Given the description of an element on the screen output the (x, y) to click on. 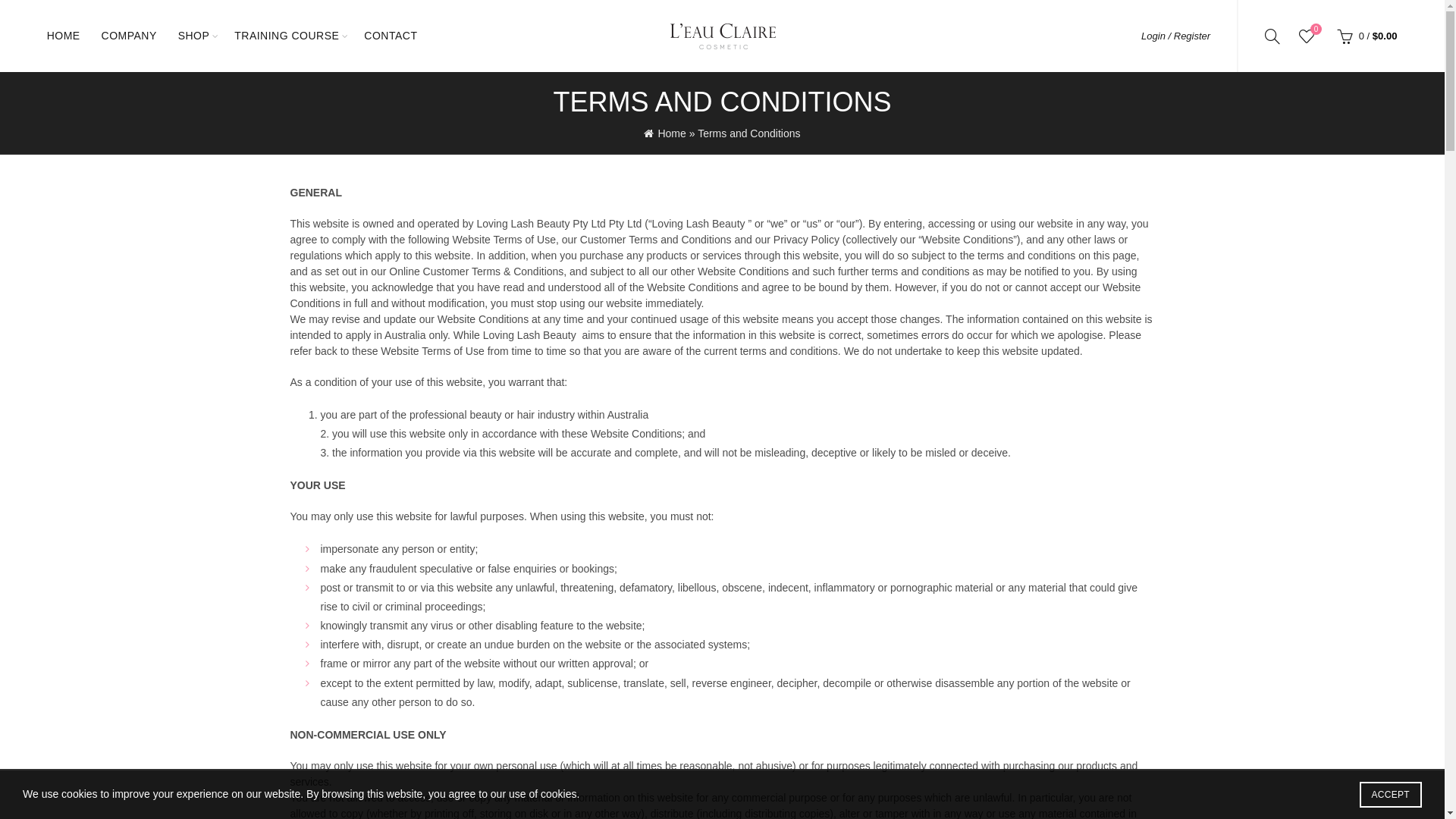
HOME Element type: text (63, 36)
COMPANY Element type: text (128, 36)
Login / Register Element type: text (1175, 35)
Home Element type: text (664, 133)
CONTACT Element type: text (390, 36)
Wishlist
0 Element type: text (1306, 35)
TRAINING COURSE Element type: text (286, 36)
SHOP Element type: text (193, 36)
ACCEPT Element type: text (1390, 794)
0 / $0.00 Element type: text (1365, 35)
Search Element type: text (30, 45)
